Given the description of an element on the screen output the (x, y) to click on. 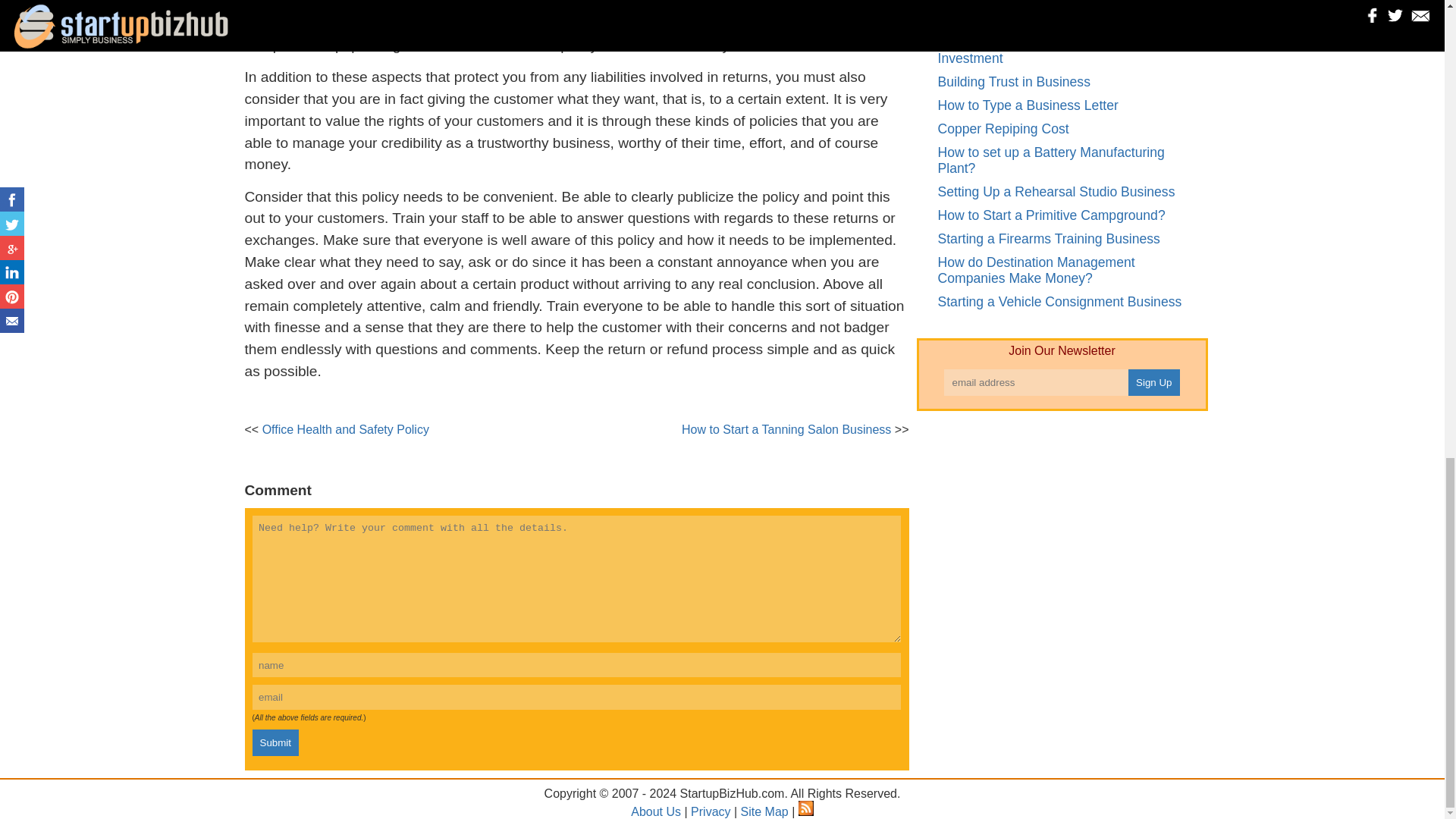
Submit (274, 742)
Office Health and Safety Policy (345, 429)
Submit (274, 742)
Sign Up (1153, 382)
How to Start a Tanning Salon Business (786, 429)
Top 5 Ways to Make Money from an Acre of Land (1066, 13)
